Given the description of an element on the screen output the (x, y) to click on. 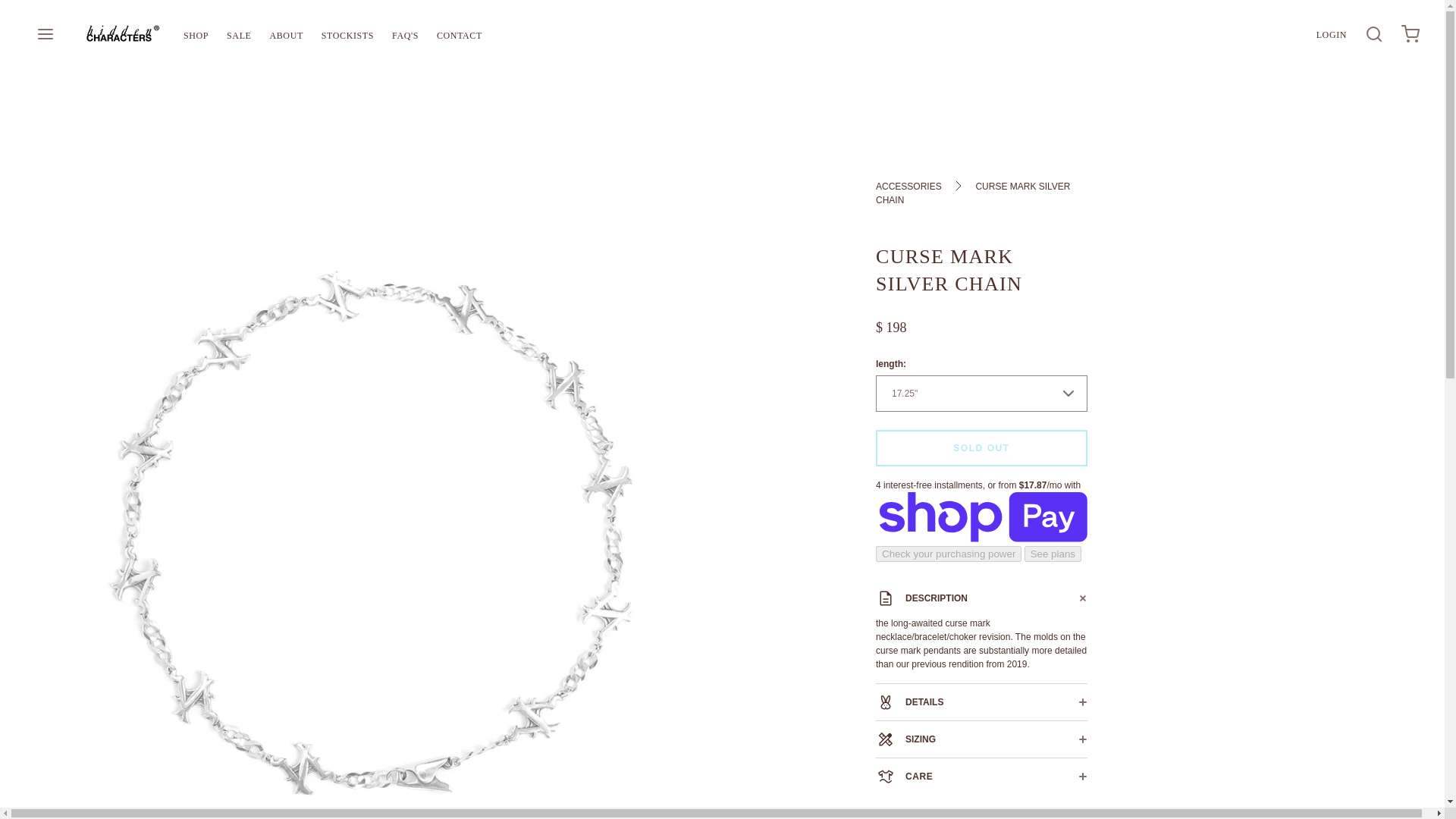
CONTACT (460, 34)
ABOUT (286, 34)
SALE (238, 34)
STOCKISTS (347, 34)
FAQ'S (405, 34)
SHOP (195, 34)
ACCESSORIES (909, 187)
CURSE MARK SILVER CHAIN (973, 194)
LOGIN (1331, 33)
SOLD OUT (981, 447)
